Given the description of an element on the screen output the (x, y) to click on. 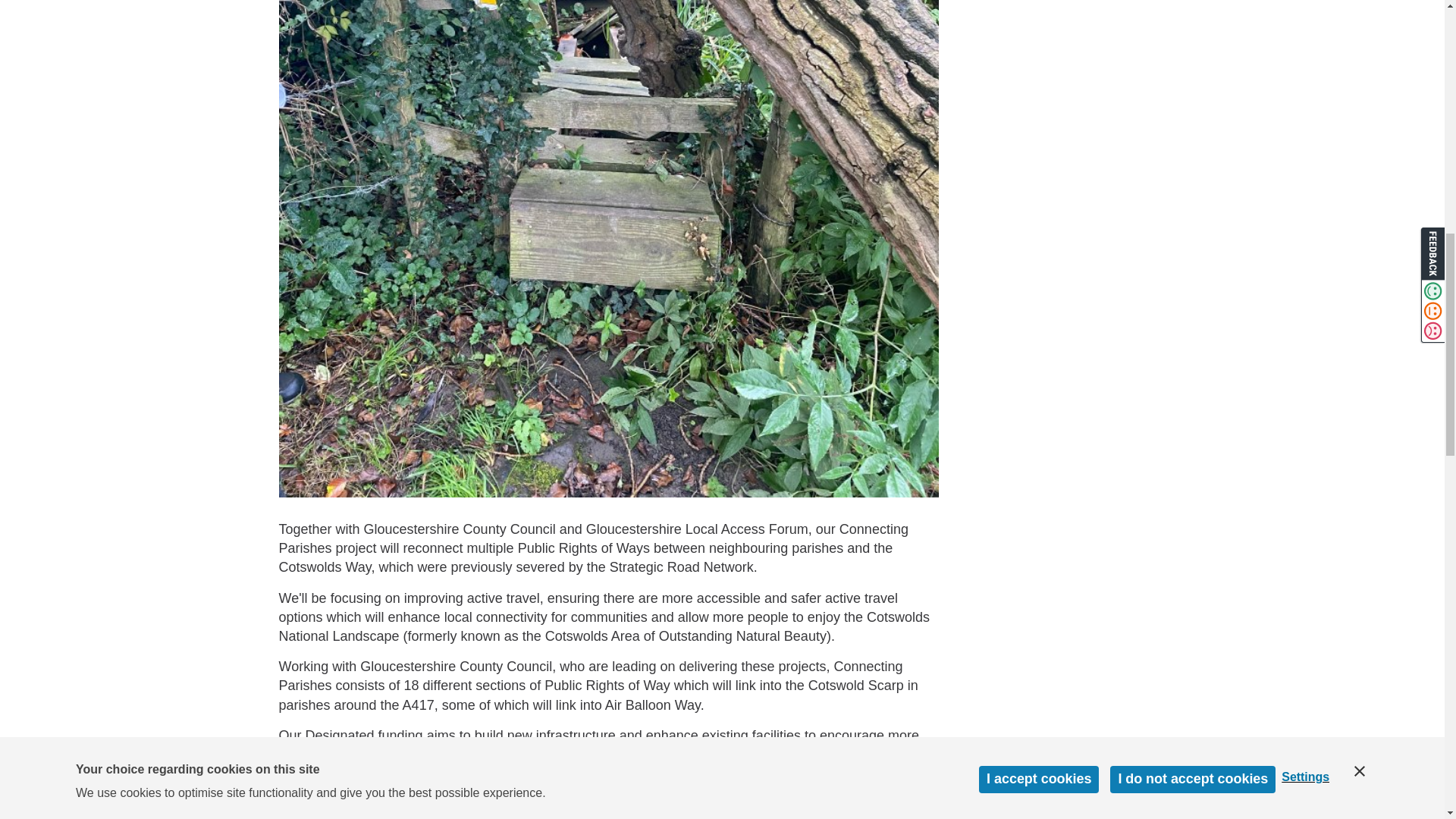
Settings (1312, 7)
i accept cookies (1038, 31)
i do not accept cookies (1192, 16)
